Given the description of an element on the screen output the (x, y) to click on. 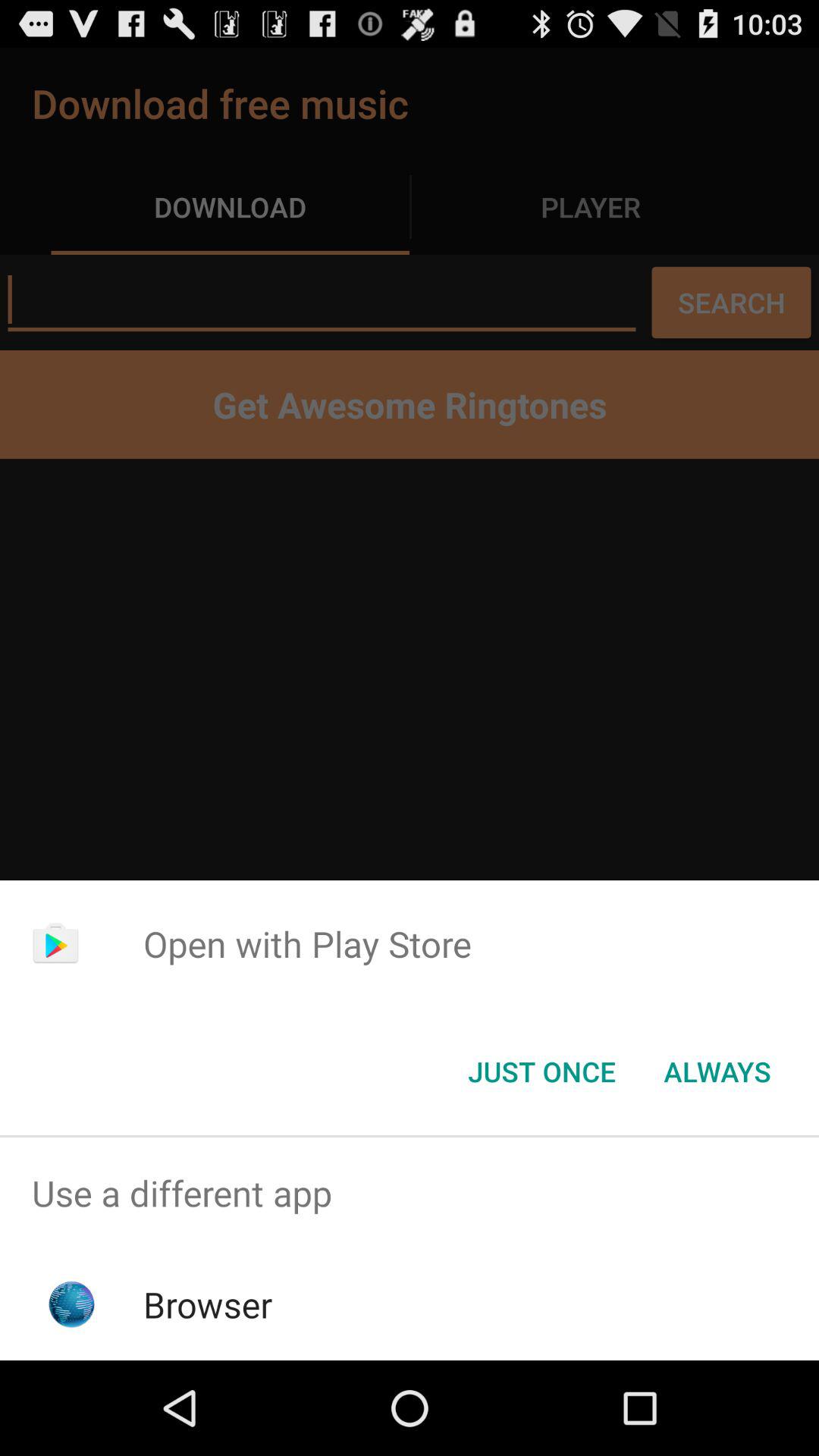
turn on just once item (541, 1071)
